Given the description of an element on the screen output the (x, y) to click on. 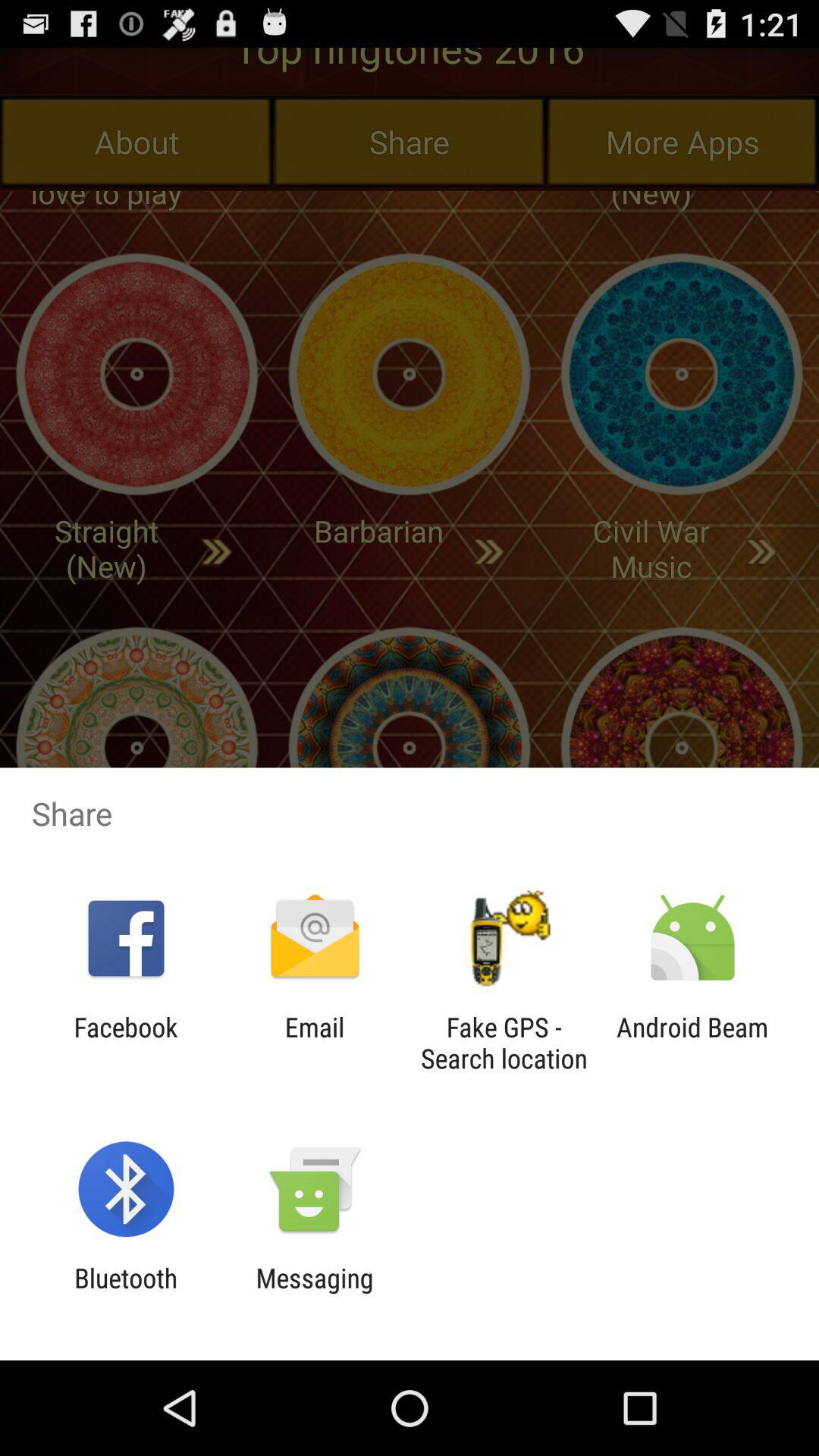
press item to the right of the facebook item (314, 1042)
